Given the description of an element on the screen output the (x, y) to click on. 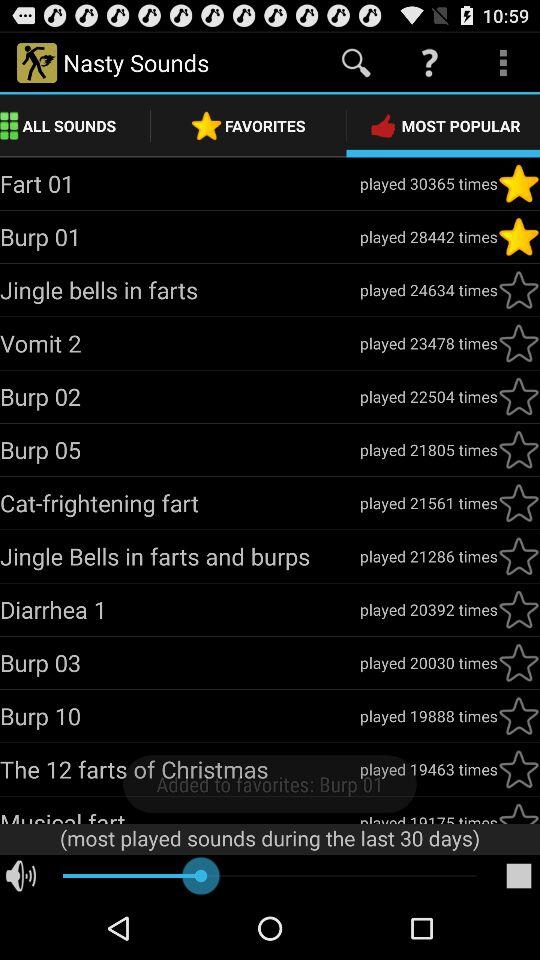
favorite (519, 716)
